Given the description of an element on the screen output the (x, y) to click on. 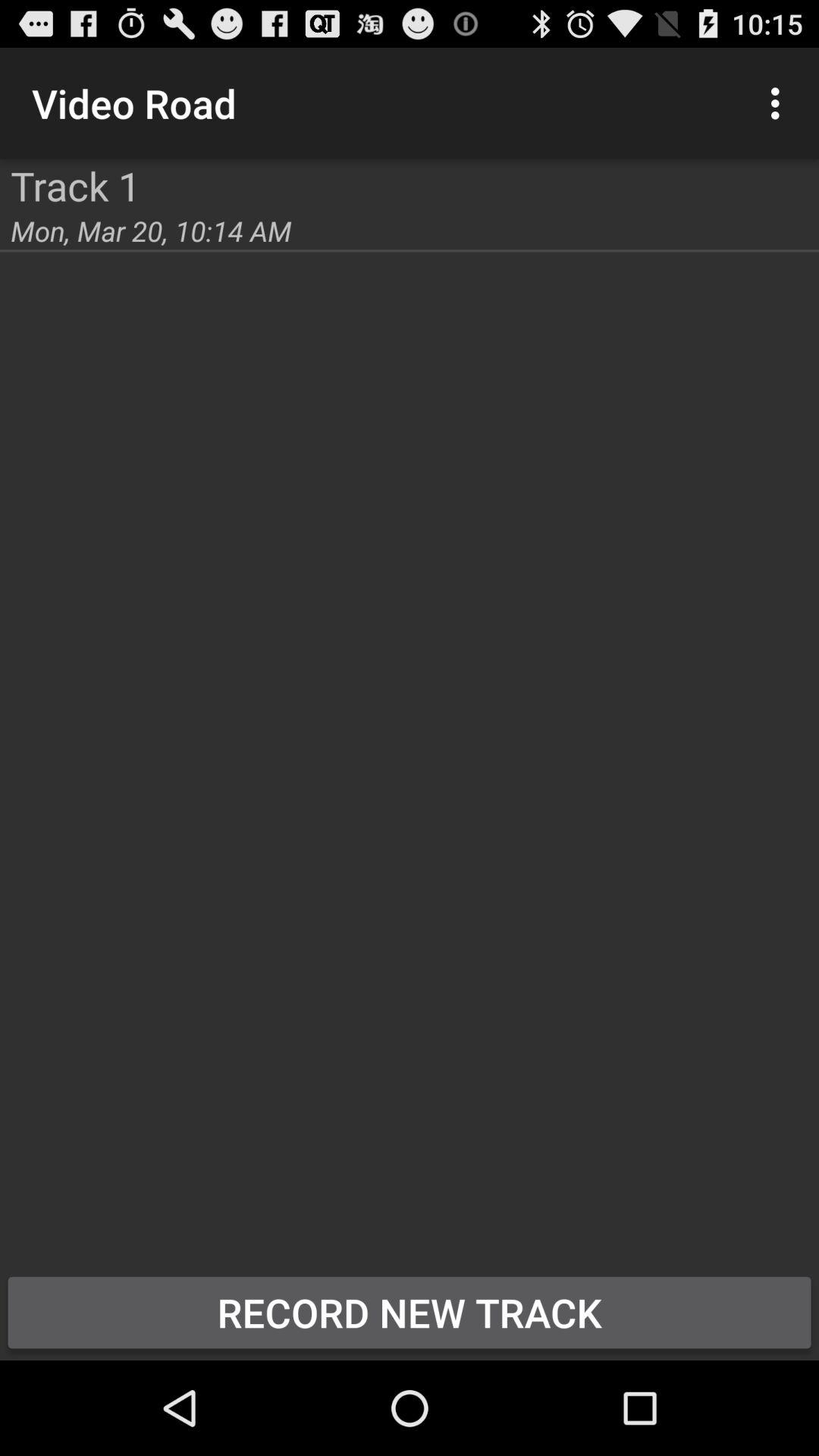
launch app below mon mar 20 app (409, 1312)
